Given the description of an element on the screen output the (x, y) to click on. 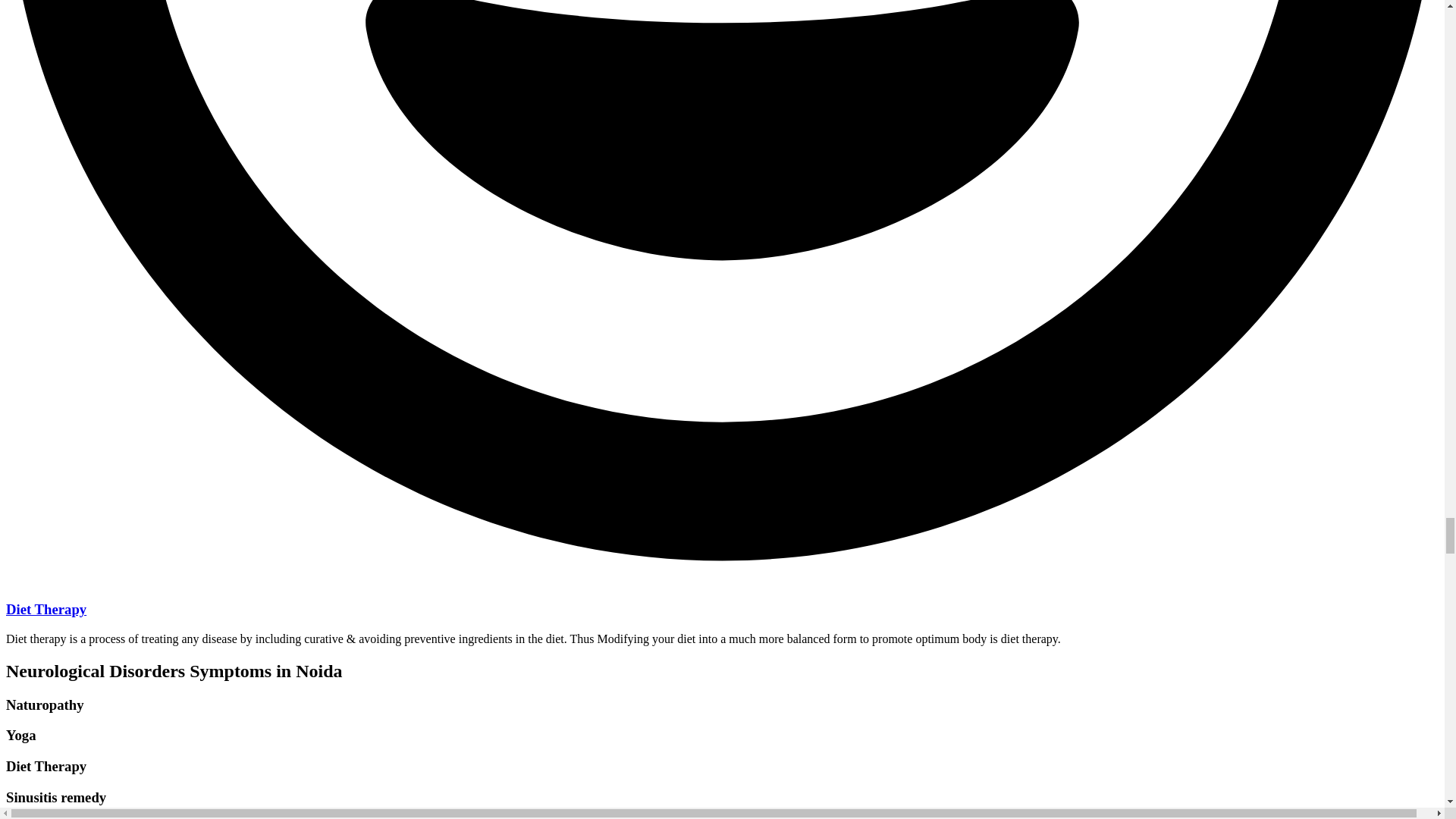
Diet Therapy (45, 609)
